Given the description of an element on the screen output the (x, y) to click on. 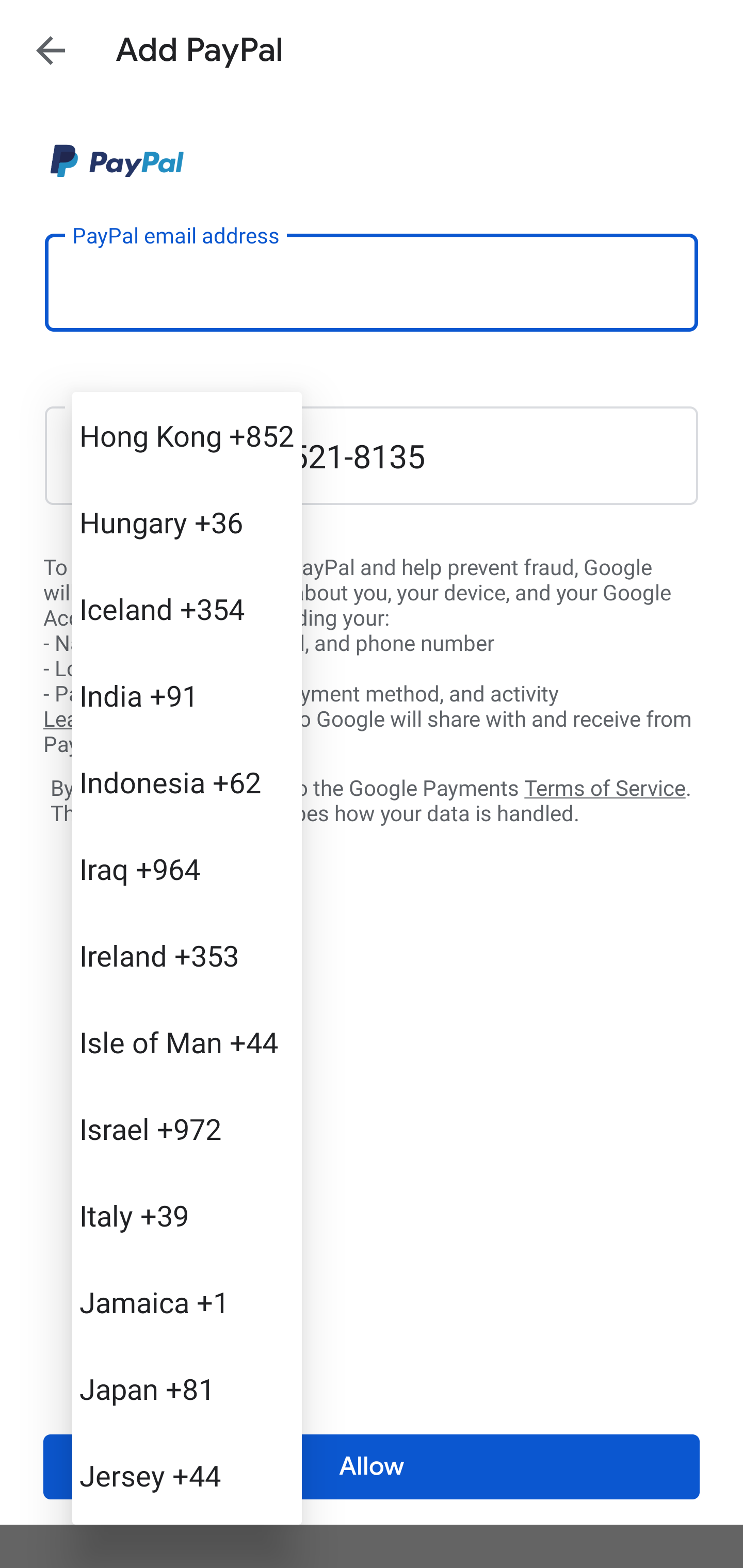
Hong Kong +852 (186, 435)
Hungary +36 (186, 522)
Iceland +354 (186, 609)
India +91 (186, 695)
Indonesia +62 (186, 781)
Iraq +964 (186, 868)
Ireland +353 (186, 955)
Isle of Man +44 (186, 1041)
Israel +972 (186, 1128)
Italy +39 (186, 1215)
Jamaica +1 (186, 1302)
Japan +81 (186, 1388)
Jersey +44 (186, 1474)
